Given the description of an element on the screen output the (x, y) to click on. 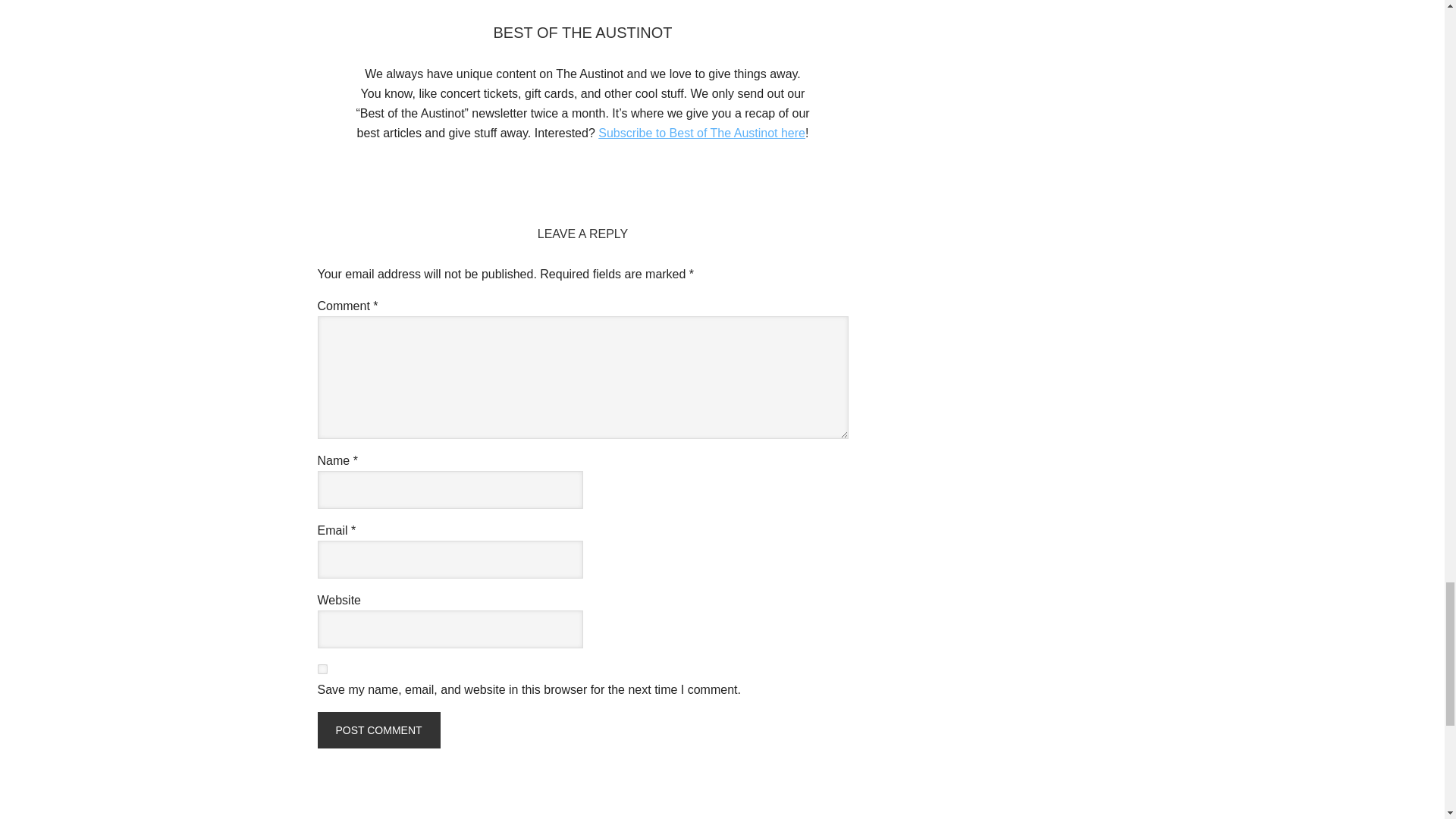
yes (321, 669)
Post Comment (378, 729)
